Given the description of an element on the screen output the (x, y) to click on. 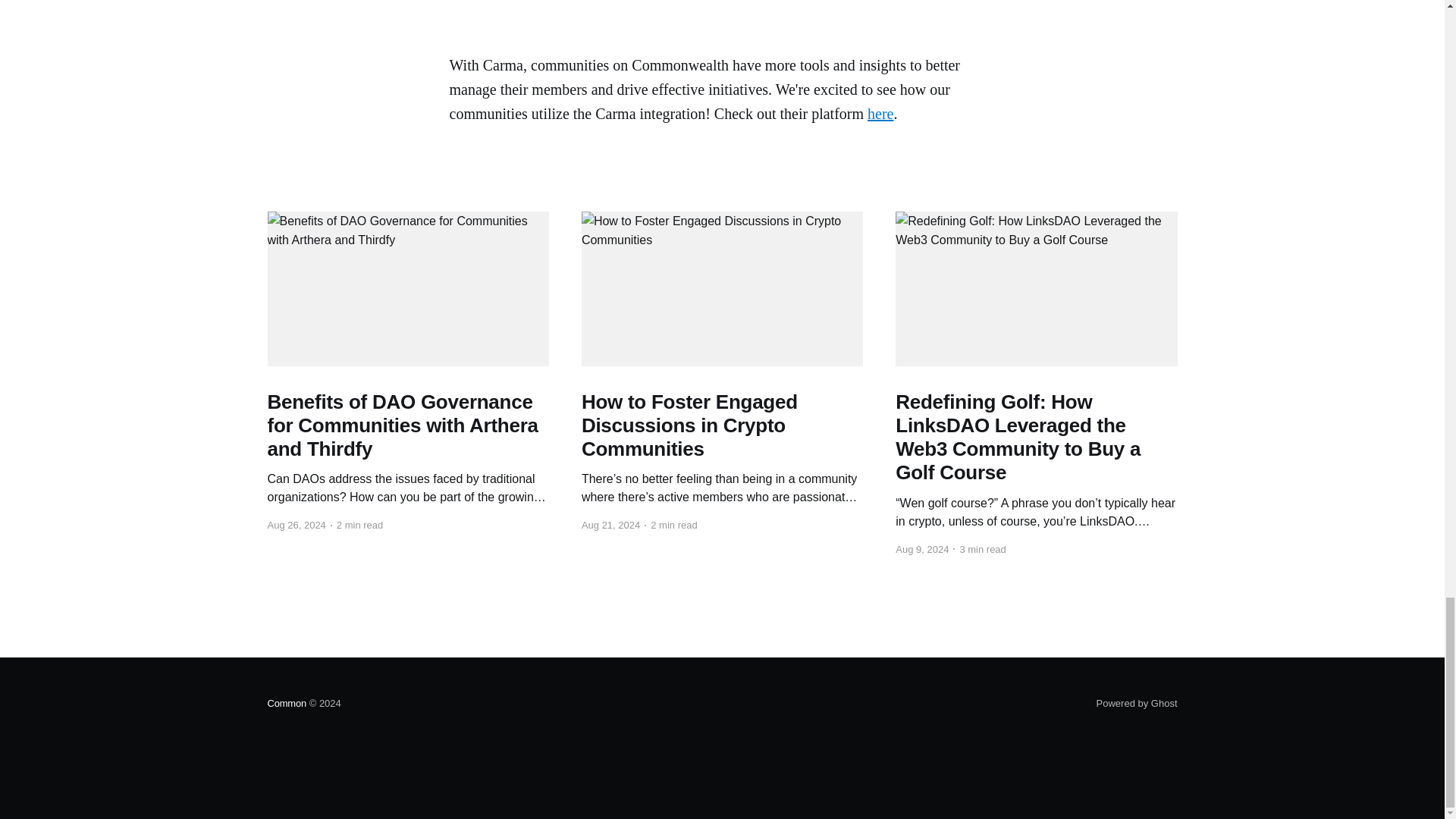
Powered by Ghost (1136, 703)
here (880, 113)
Common (285, 703)
